Given the description of an element on the screen output the (x, y) to click on. 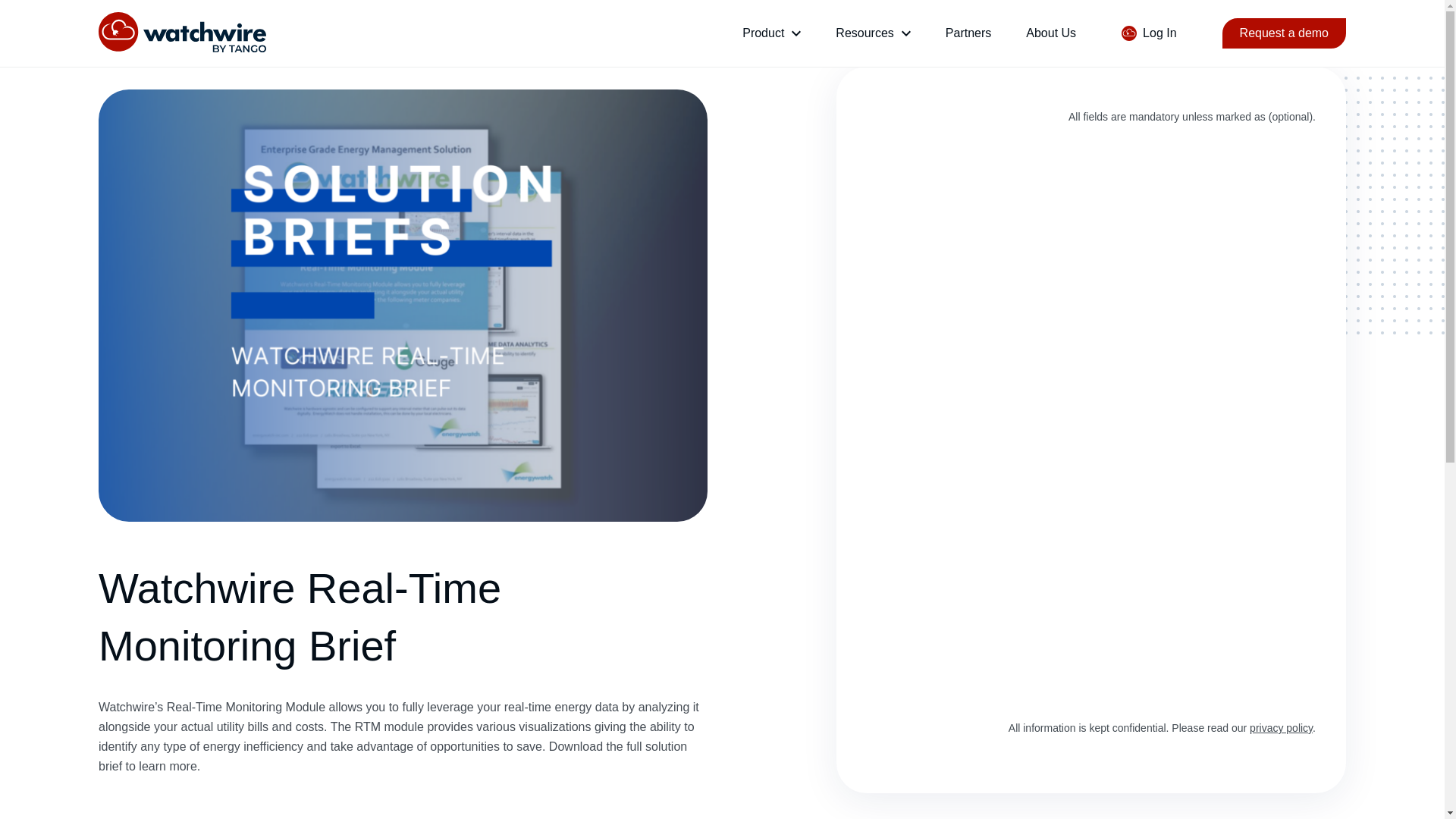
Log In (1148, 33)
Resources (864, 33)
Partners (967, 32)
Product (763, 33)
About Us (1050, 32)
Request a demo (1284, 33)
